Given the description of an element on the screen output the (x, y) to click on. 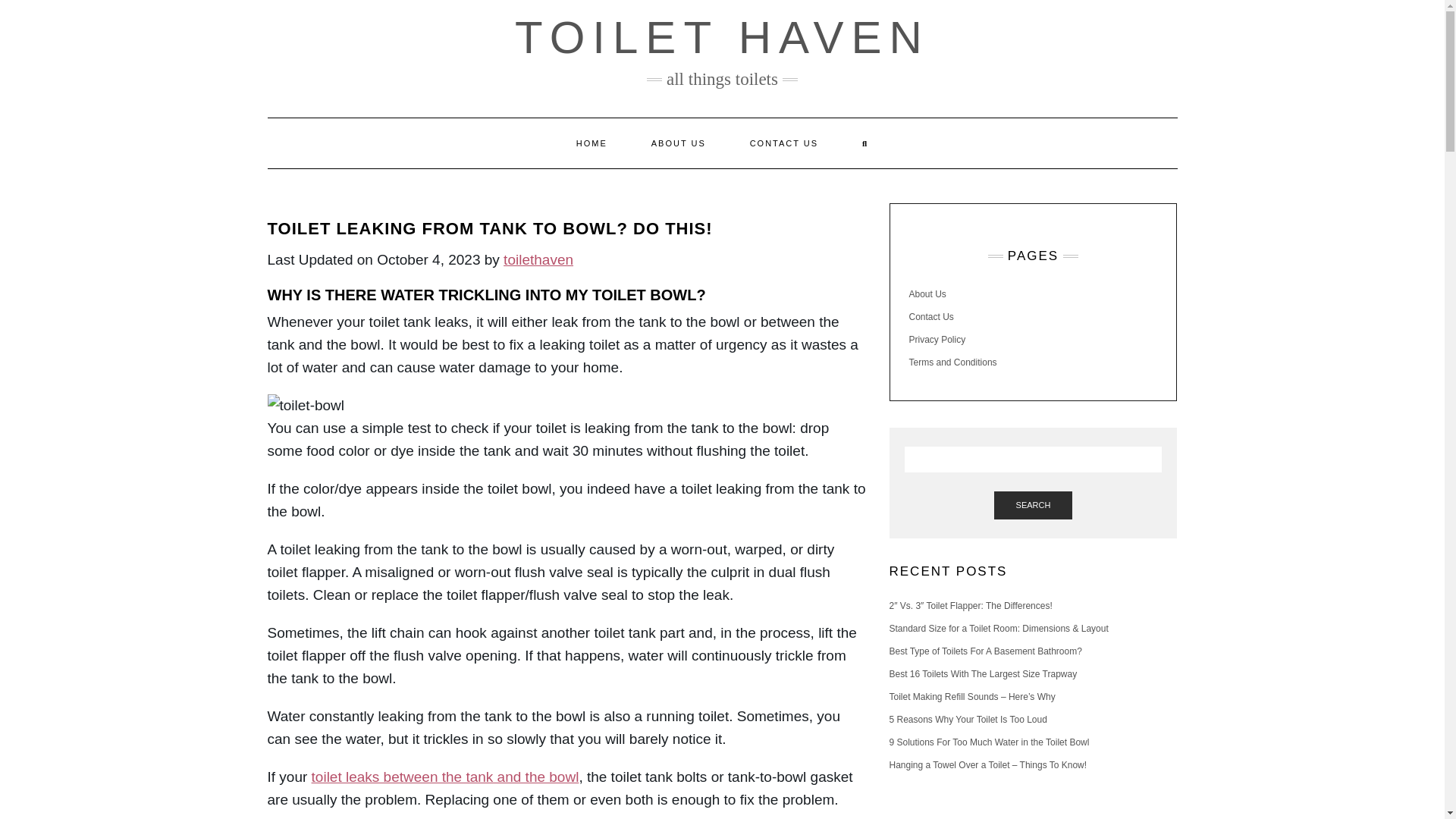
5 Reasons Why Your Toilet Is Too Loud (967, 719)
ABOUT US (678, 142)
HOME (591, 142)
9 Solutions For Too Much Water in the Toilet Bowl (988, 742)
Best 16 Toilets With The Largest Size Trapway (982, 674)
toilet leaks between the tank and the bowl (445, 776)
Privacy Policy (936, 339)
Terms and Conditions (951, 362)
Best Type of Toilets For A Basement Bathroom? (984, 651)
toilethaven (538, 259)
CONTACT US (784, 142)
SEARCH (1033, 505)
TOILET HAVEN (722, 37)
About Us (926, 294)
Contact Us (930, 317)
